Given the description of an element on the screen output the (x, y) to click on. 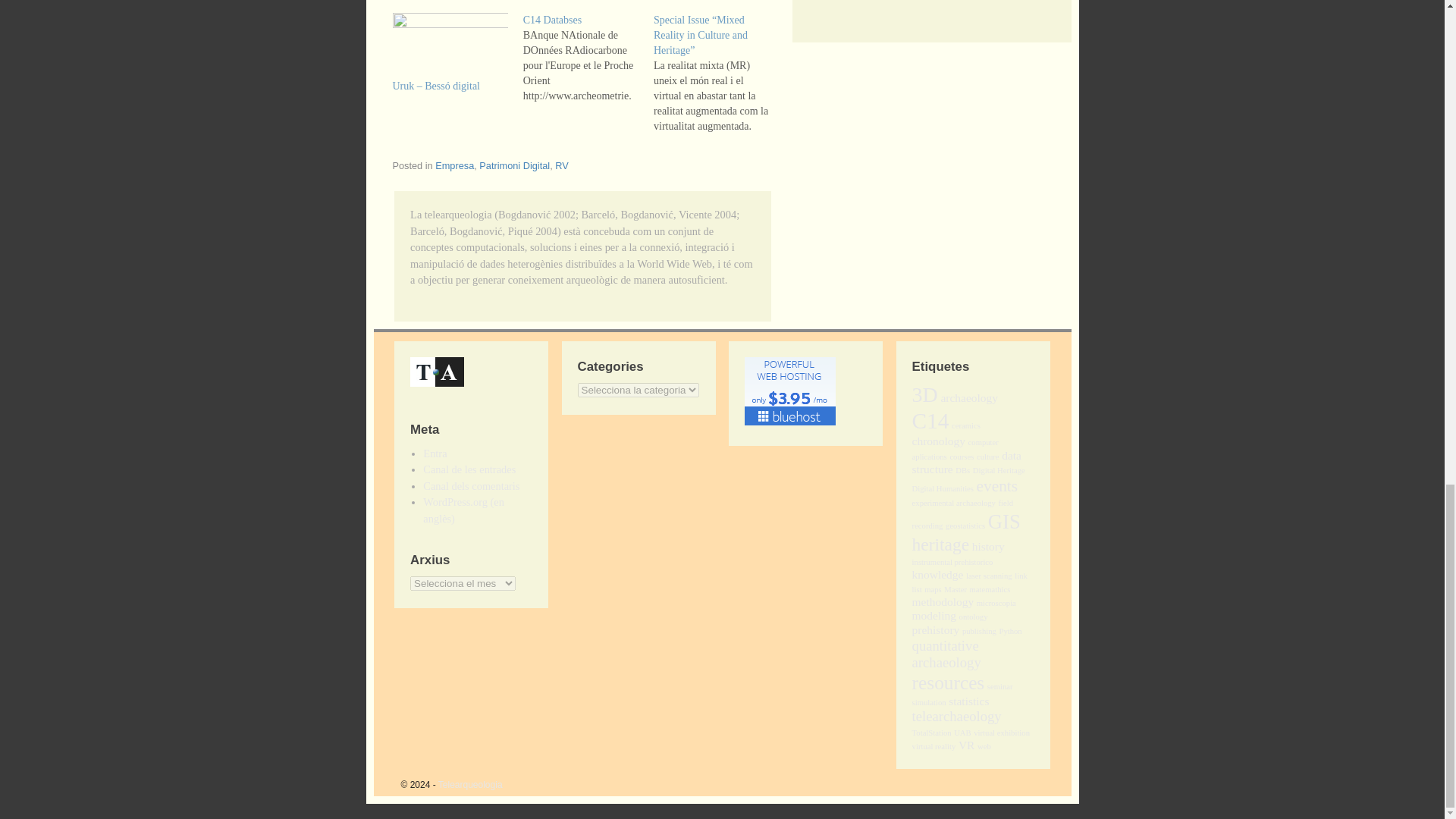
C14 Databses (551, 19)
Empresa (454, 165)
C14 Databses (551, 19)
RV (560, 165)
Patrimoni Digital (514, 165)
C14 Databses (587, 58)
